Given the description of an element on the screen output the (x, y) to click on. 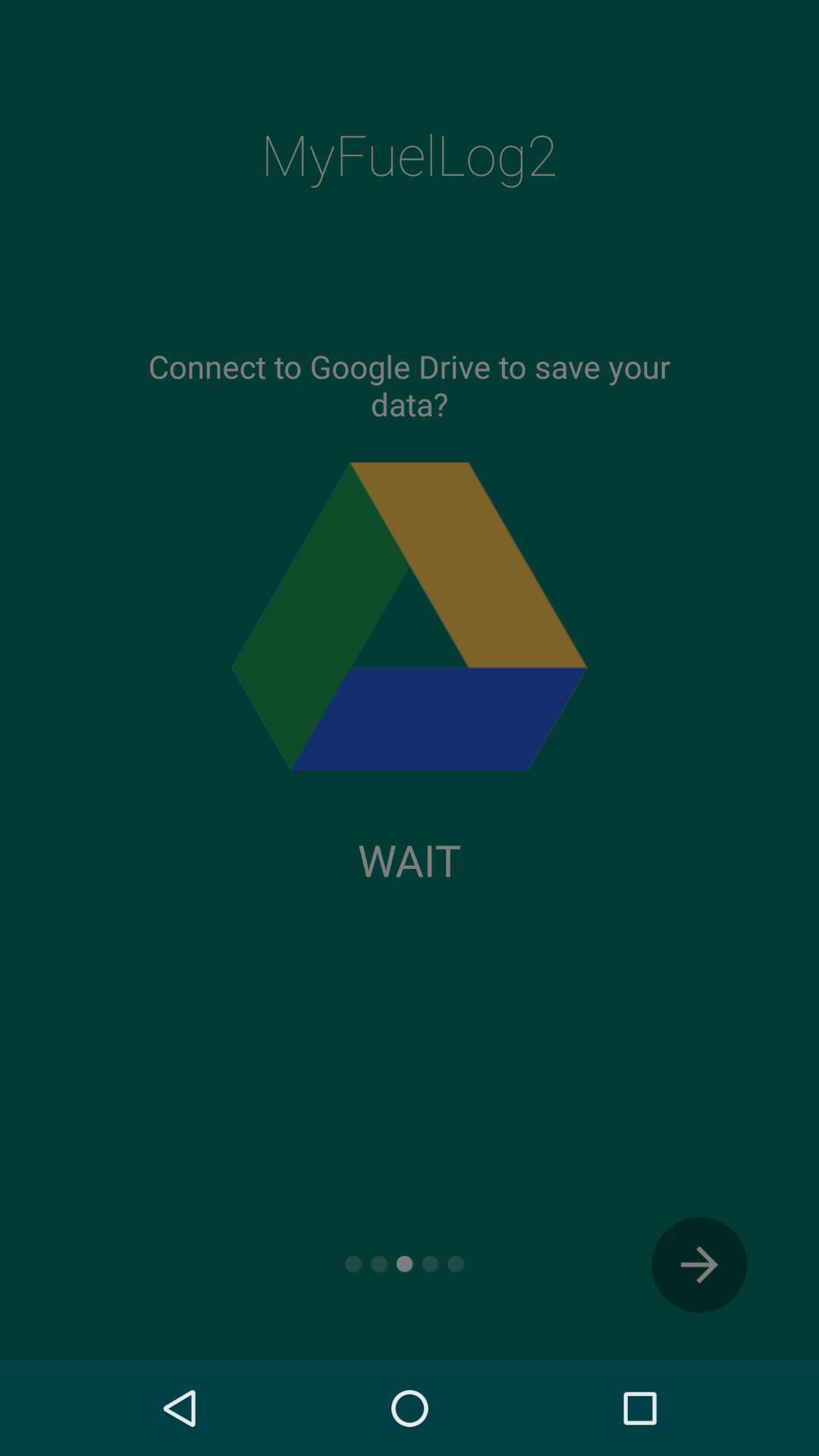
open the icon at the bottom right corner (699, 1264)
